Given the description of an element on the screen output the (x, y) to click on. 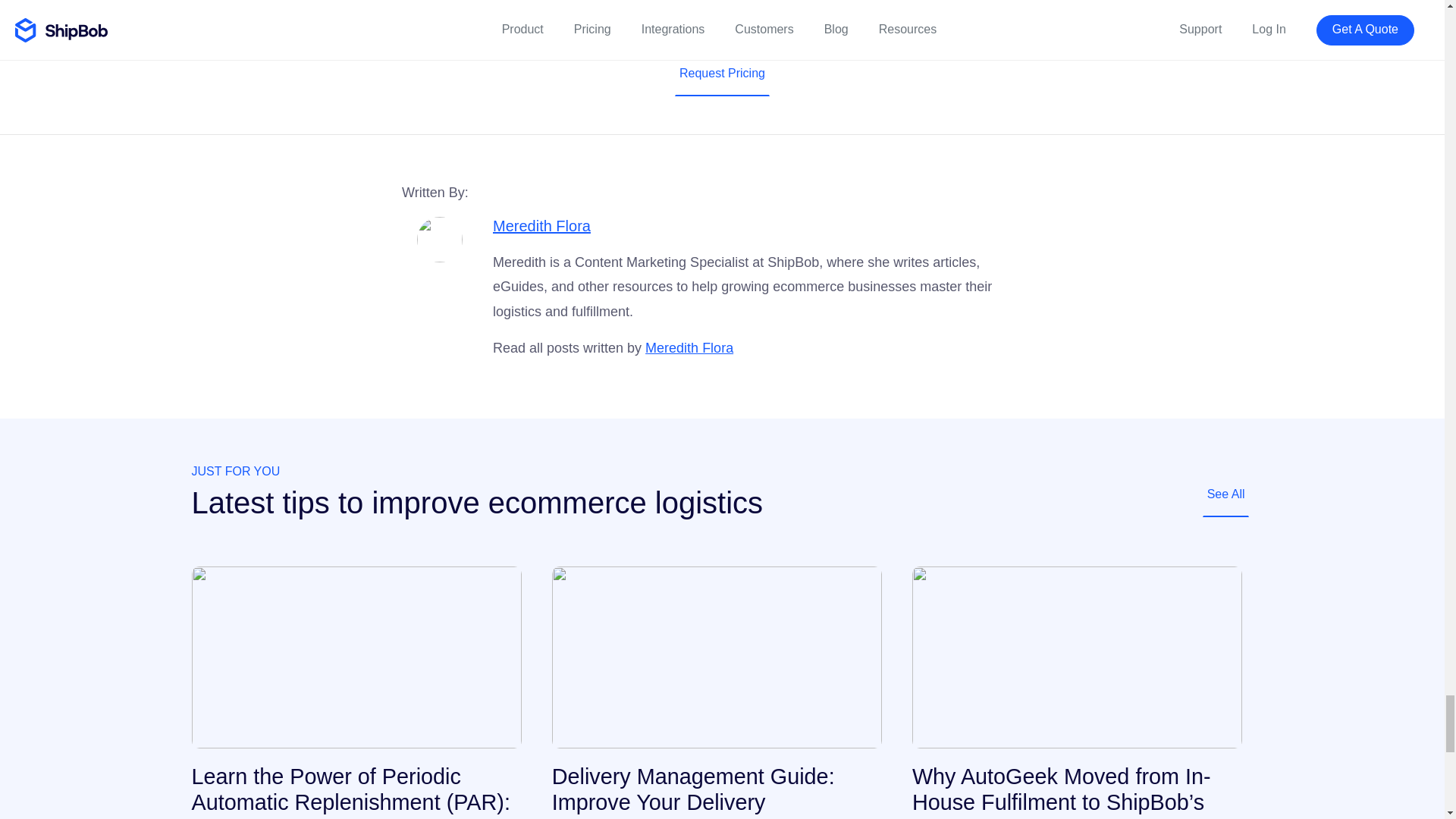
Posts by Meredith Flora (542, 225)
